Given the description of an element on the screen output the (x, y) to click on. 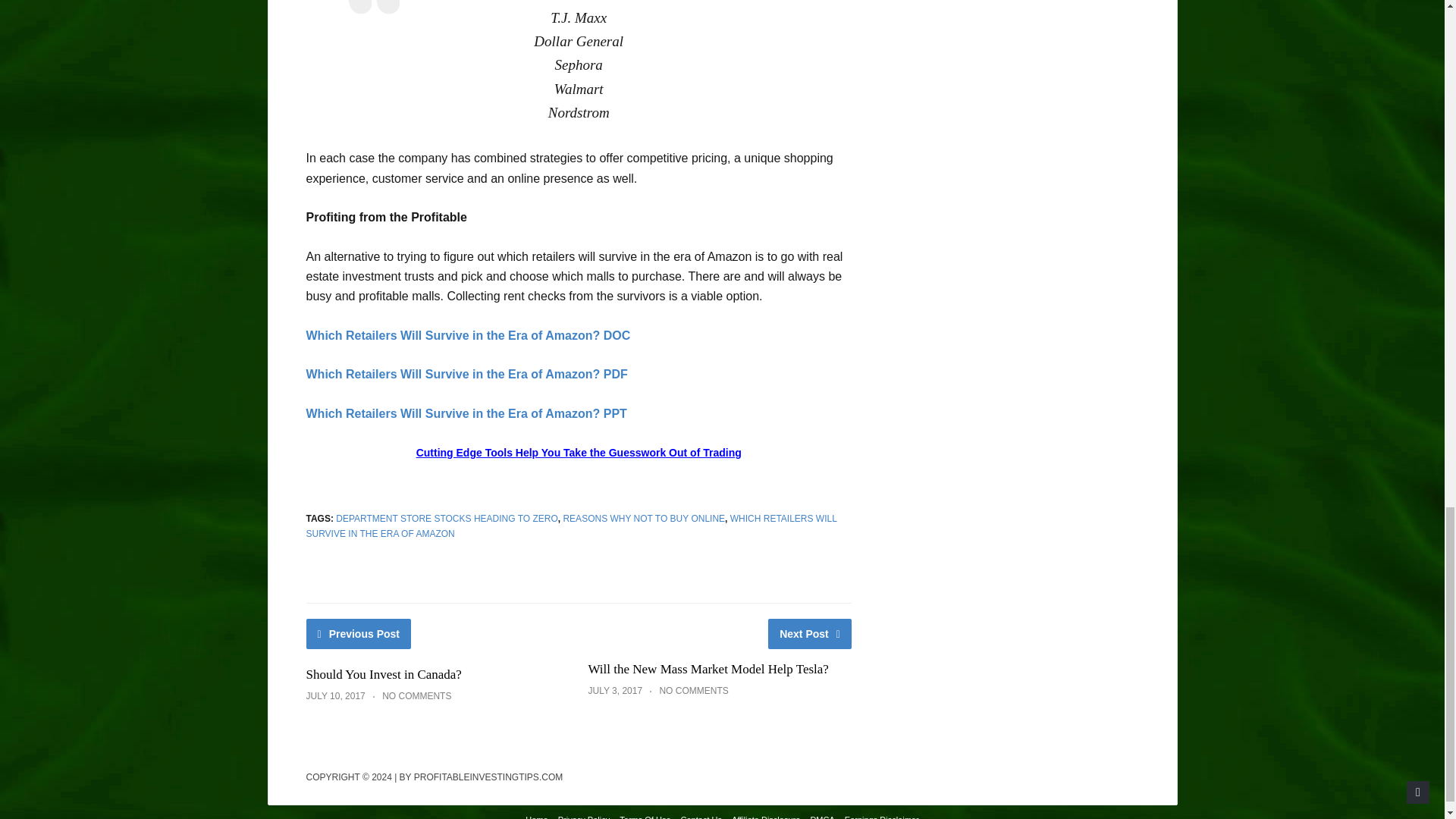
Which Retailers Will Survive in the Era of Amazon? PPT (466, 413)
WHICH RETAILERS WILL SURVIVE IN THE ERA OF AMAZON (571, 525)
NO COMMENTS (693, 690)
Next Post (809, 634)
Should You Invest in Canada? (383, 674)
NO COMMENTS (416, 696)
Previous Post (358, 634)
Which Retailers Will Survive in the Era of Amazon? DOC (467, 335)
DEPARTMENT STORE STOCKS HEADING TO ZERO (446, 518)
REASONS WHY NOT TO BUY ONLINE (643, 518)
